Given the description of an element on the screen output the (x, y) to click on. 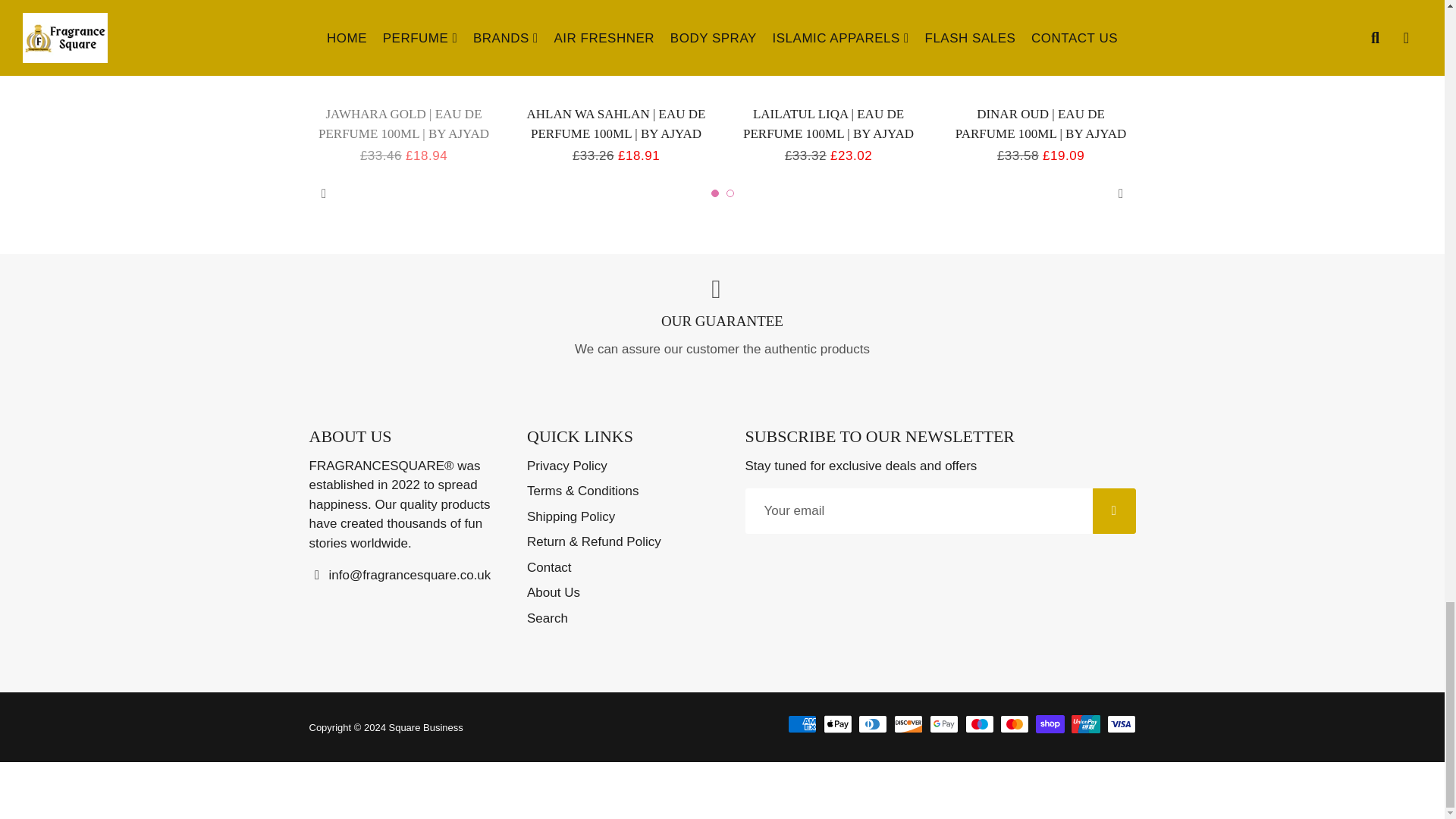
Shop Pay (1049, 723)
Union Pay (1085, 723)
Diners Club (872, 723)
Discover (908, 723)
American Express (801, 723)
Apple Pay (837, 723)
Maestro (979, 723)
Visa (1120, 723)
Google Pay (944, 723)
Mastercard (1014, 723)
